Given the description of an element on the screen output the (x, y) to click on. 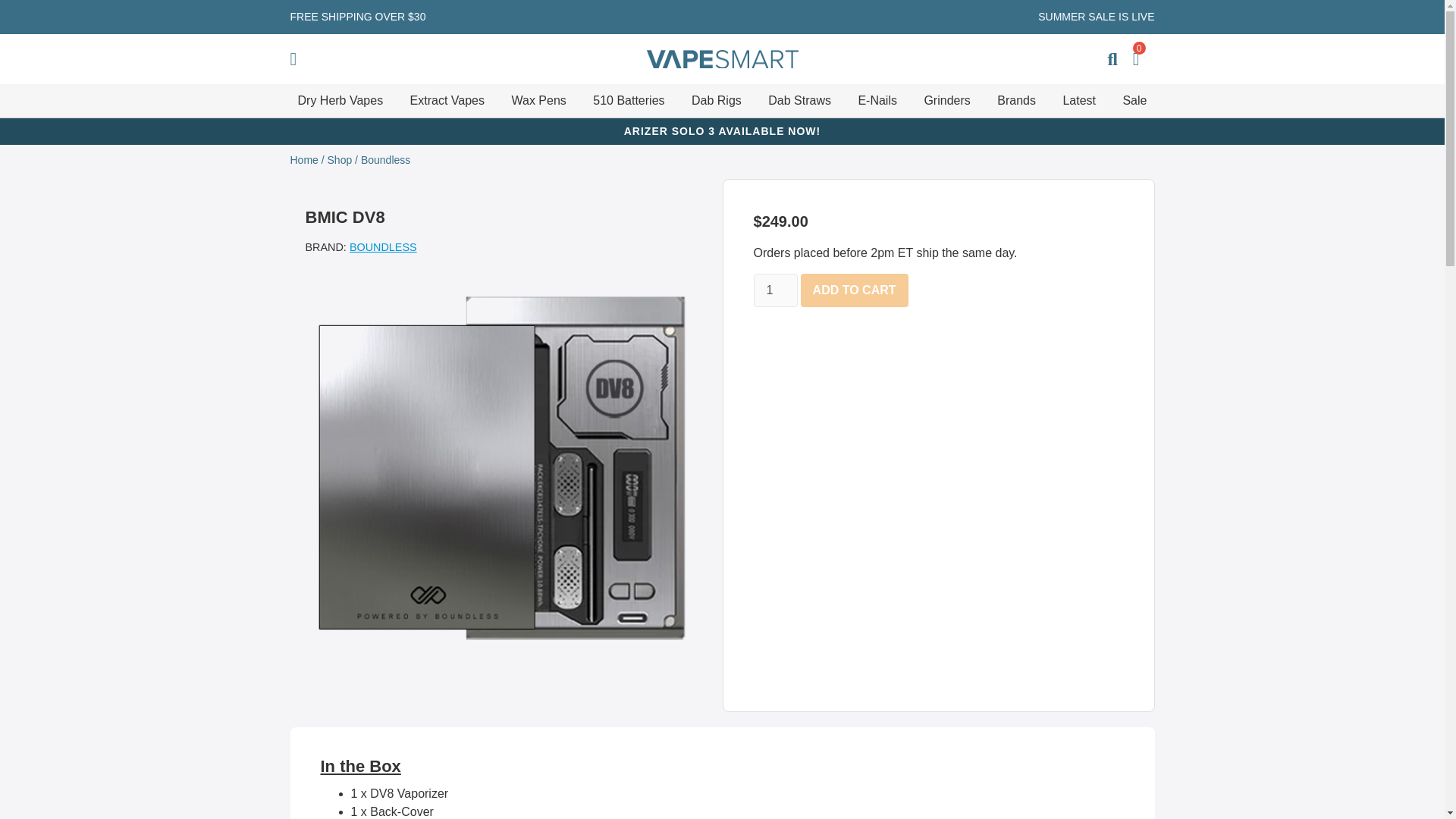
Dab Straws (799, 100)
ARIZER SOLO 3 AVAILABLE NOW! (722, 131)
Grinders (946, 100)
0 (1136, 58)
SUMMER SALE IS LIVE (1096, 16)
Extract Vapes (447, 100)
Brands (1016, 100)
1 (775, 290)
Wax Pens (538, 100)
Dab Rigs (716, 100)
Latest (1079, 100)
Sale (1134, 100)
E-Nails (876, 100)
Dry Herb Vapes (339, 100)
